Given the description of an element on the screen output the (x, y) to click on. 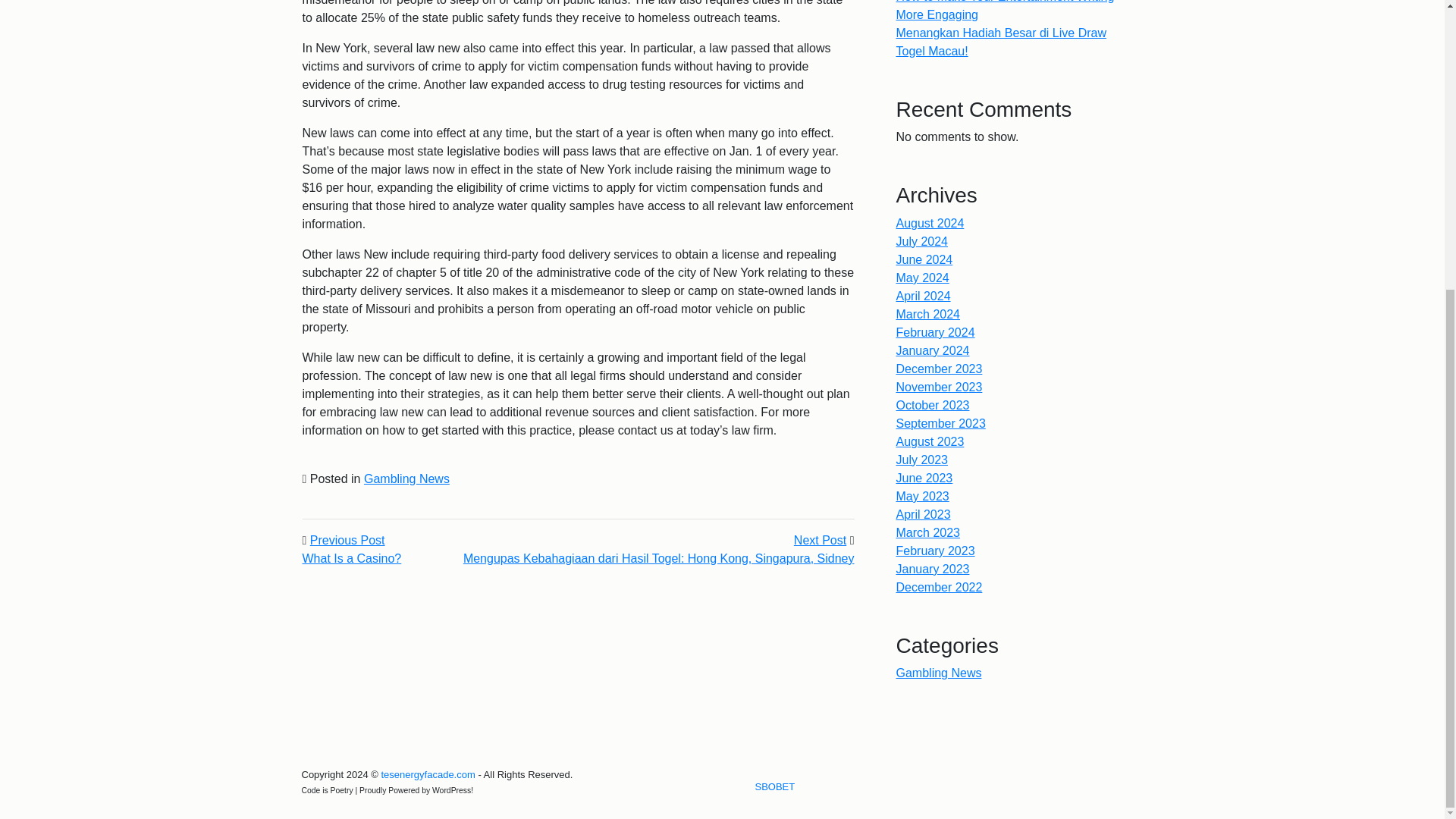
June 2024 (924, 259)
Gambling News (938, 672)
April 2024 (923, 295)
March 2024 (928, 314)
March 2023 (928, 532)
February 2023 (819, 612)
SBOBET (935, 550)
April 2023 (775, 786)
December 2023 (923, 513)
tesenergyfacade.com (939, 368)
December 2022 (427, 774)
